Given the description of an element on the screen output the (x, y) to click on. 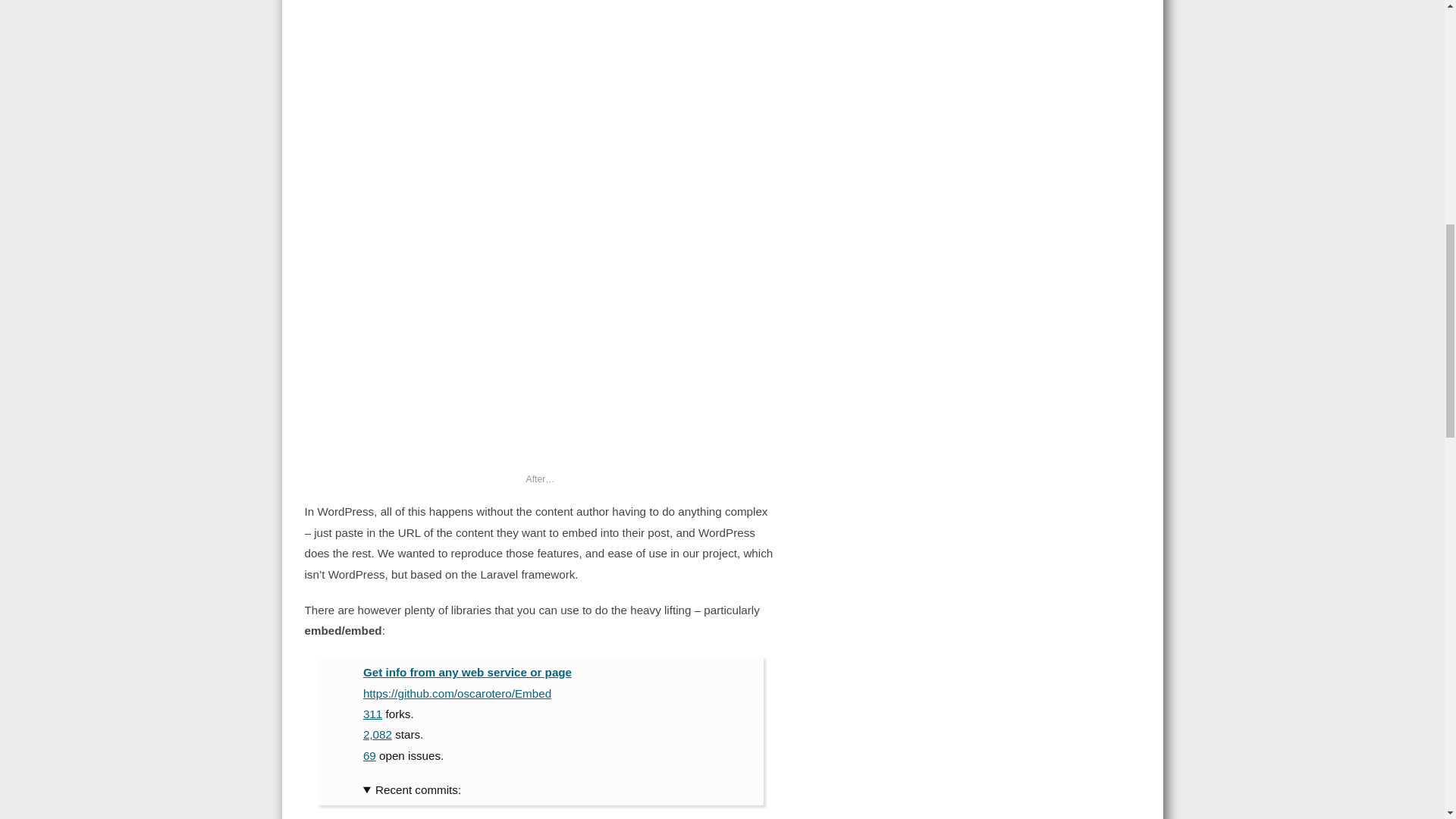
311 (371, 713)
Get info from any web service or page (467, 671)
69 (368, 755)
2,082 (376, 734)
